Given the description of an element on the screen output the (x, y) to click on. 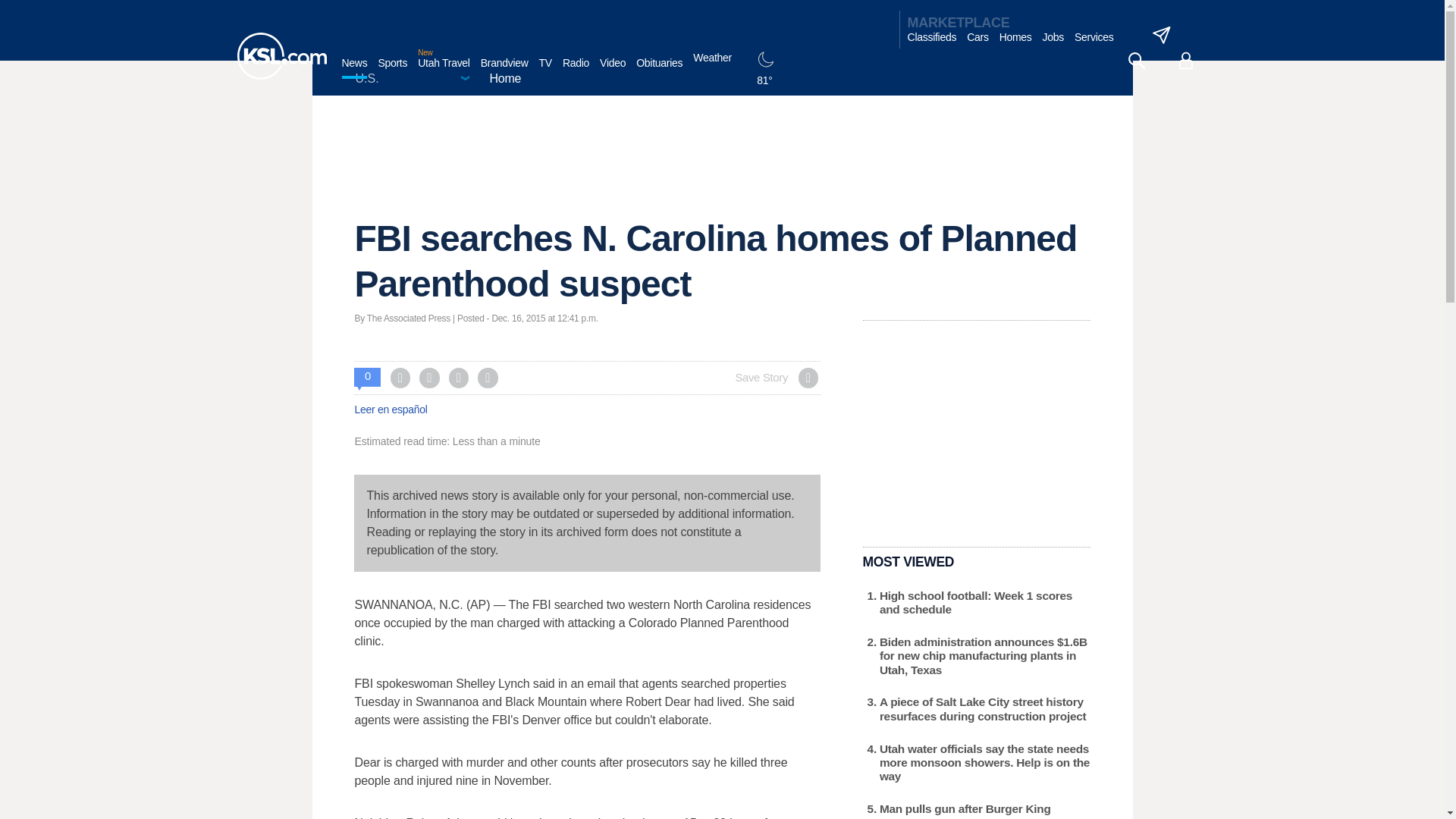
account - logged out (1185, 60)
KSL homepage (280, 55)
search (1135, 60)
